Given the description of an element on the screen output the (x, y) to click on. 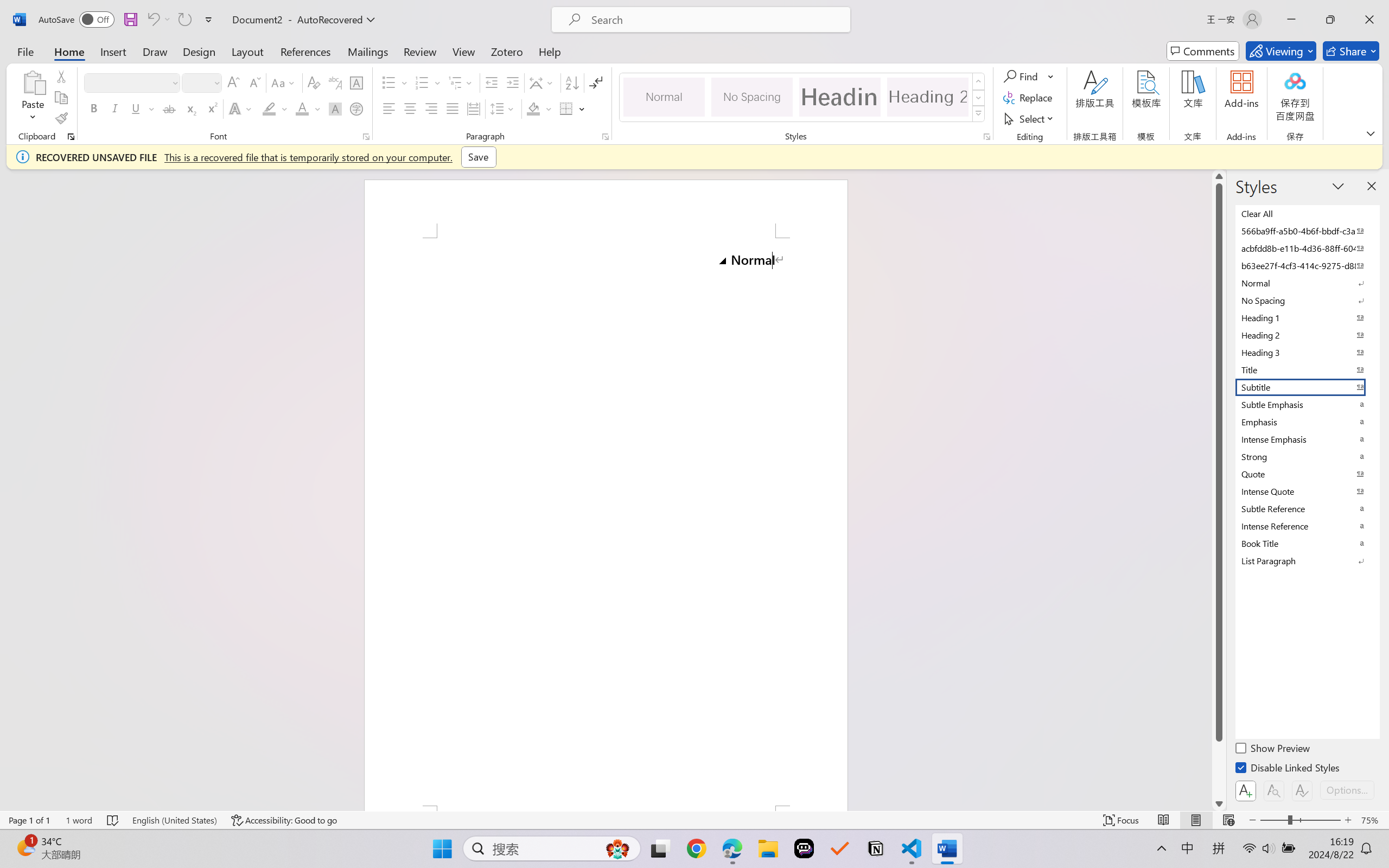
Page down (1219, 768)
Disable Linked Styles (1287, 769)
Normal (1306, 282)
Title (1306, 369)
Styles... (986, 136)
Strong (1306, 456)
